Given the description of an element on the screen output the (x, y) to click on. 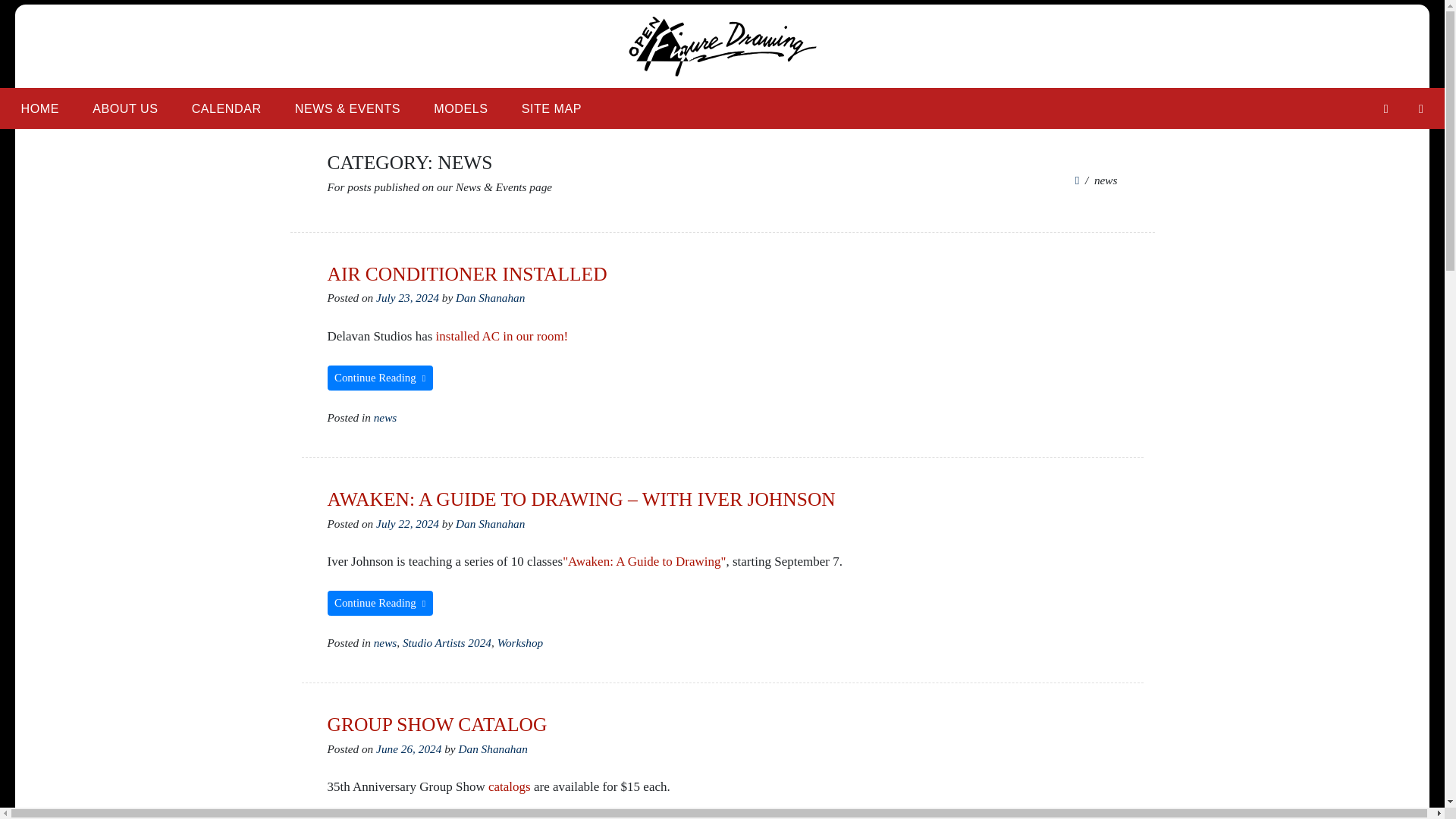
ABOUT US (125, 107)
OPEN FIGURE DRAWING (474, 95)
CALENDAR (226, 107)
HOME (39, 107)
MODELS (460, 107)
